Given the description of an element on the screen output the (x, y) to click on. 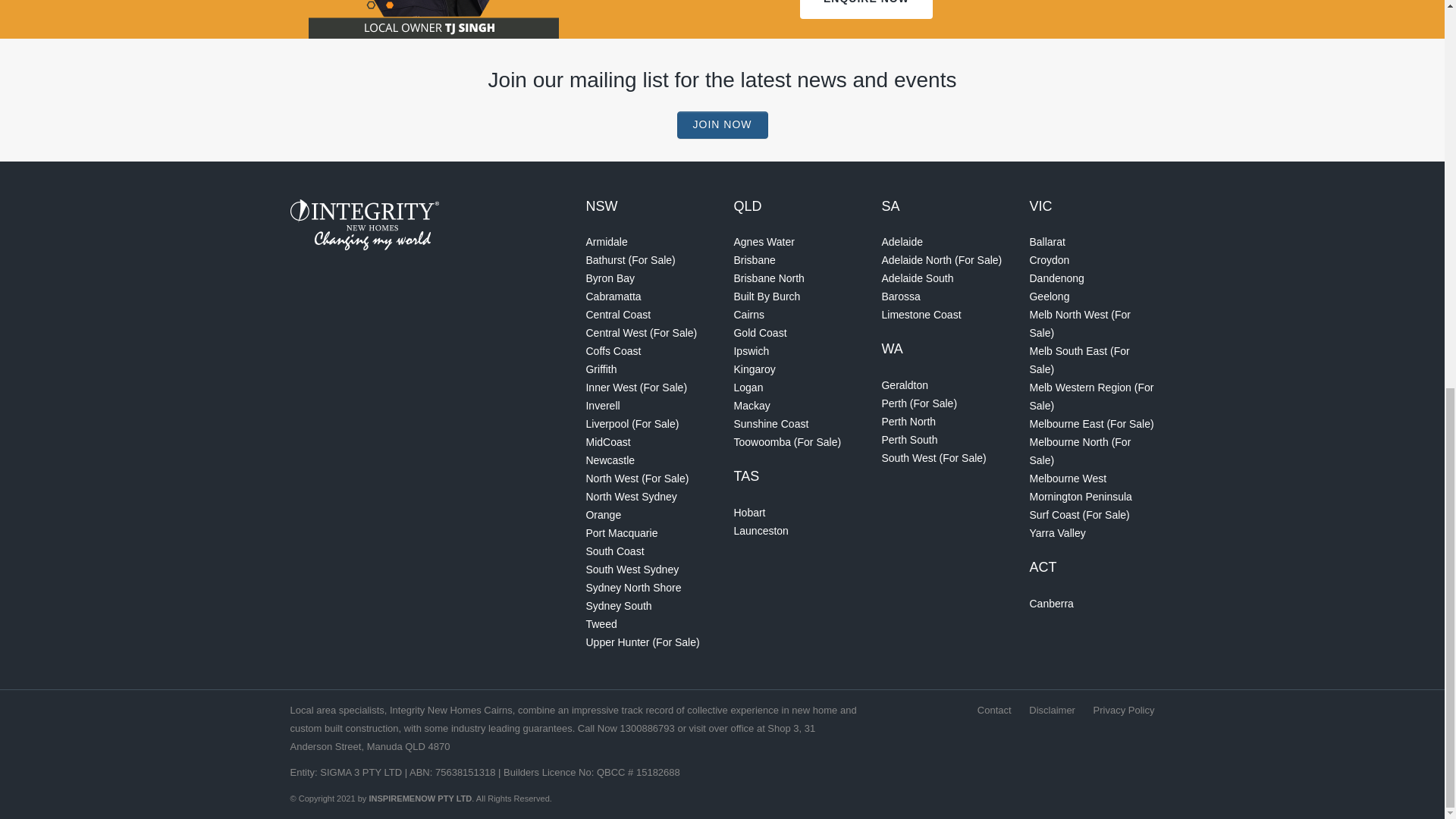
Griffith (600, 369)
Central Coast (617, 314)
JOIN NOW (722, 124)
Coffs Coast (612, 350)
Inverell (602, 405)
ENQUIRE NOW (866, 9)
Cabramatta (612, 296)
Armidale (606, 241)
Byron Bay (609, 277)
